Given the description of an element on the screen output the (x, y) to click on. 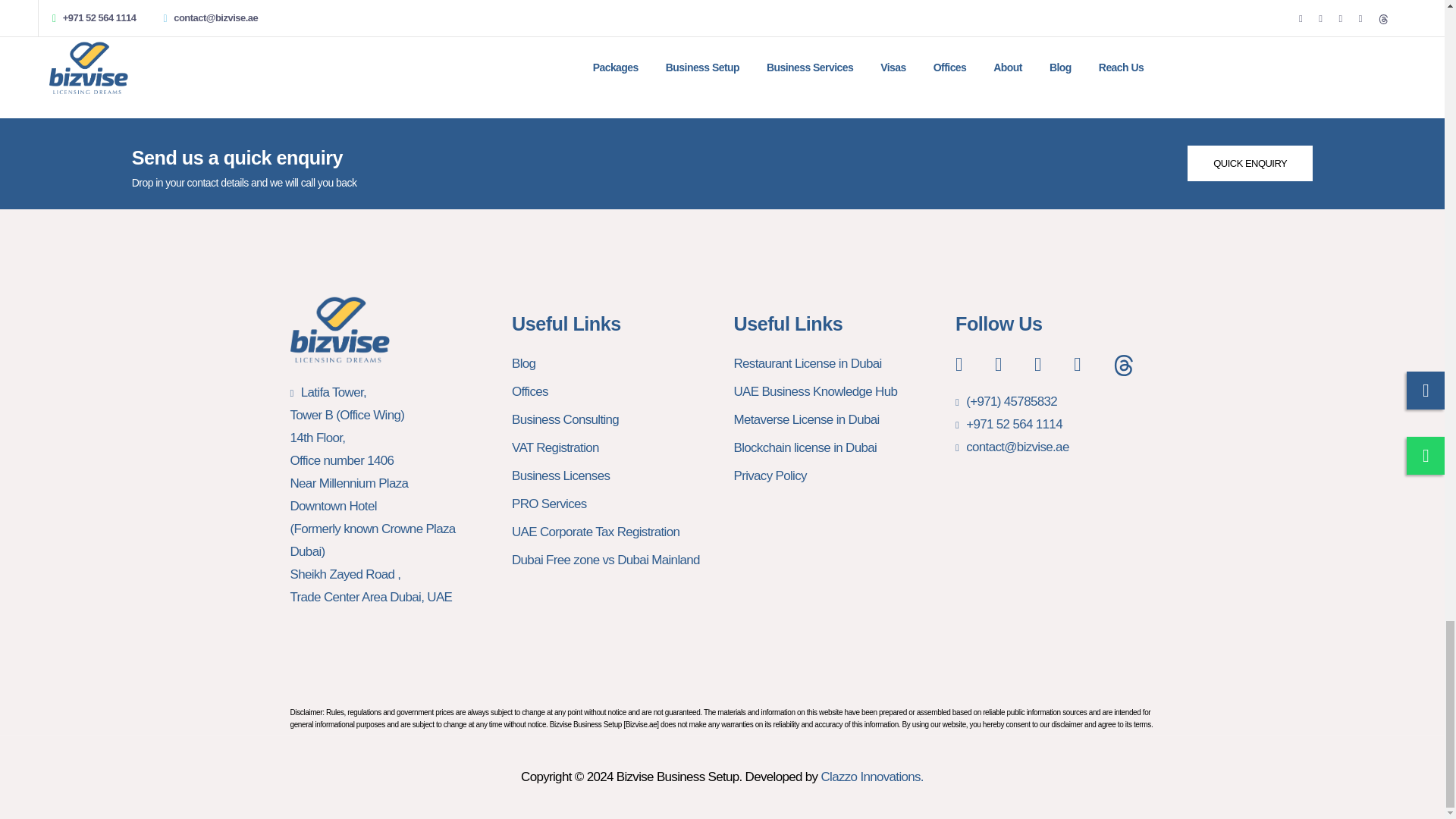
click to open whatsapp chat (1250, 163)
